Given the description of an element on the screen output the (x, y) to click on. 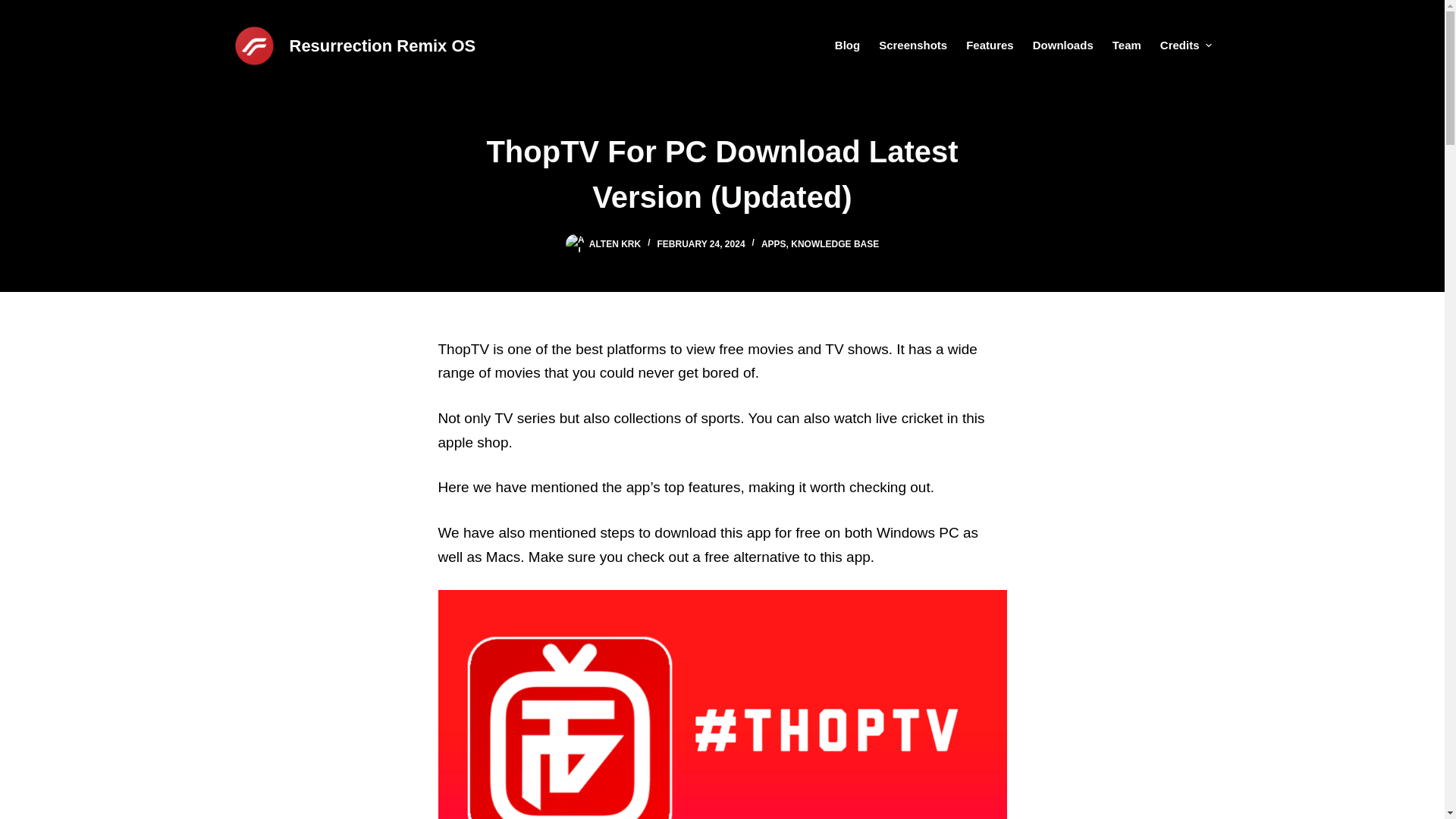
Posts by Alten KRK (614, 244)
Screenshots (912, 45)
Features (989, 45)
APPS (773, 244)
Credits (1180, 45)
Downloads (1062, 45)
Skip to content (15, 7)
Resurrection Remix OS (382, 45)
ALTEN KRK (614, 244)
Blog (851, 45)
KNOWLEDGE BASE (834, 244)
Team (1126, 45)
